Given the description of an element on the screen output the (x, y) to click on. 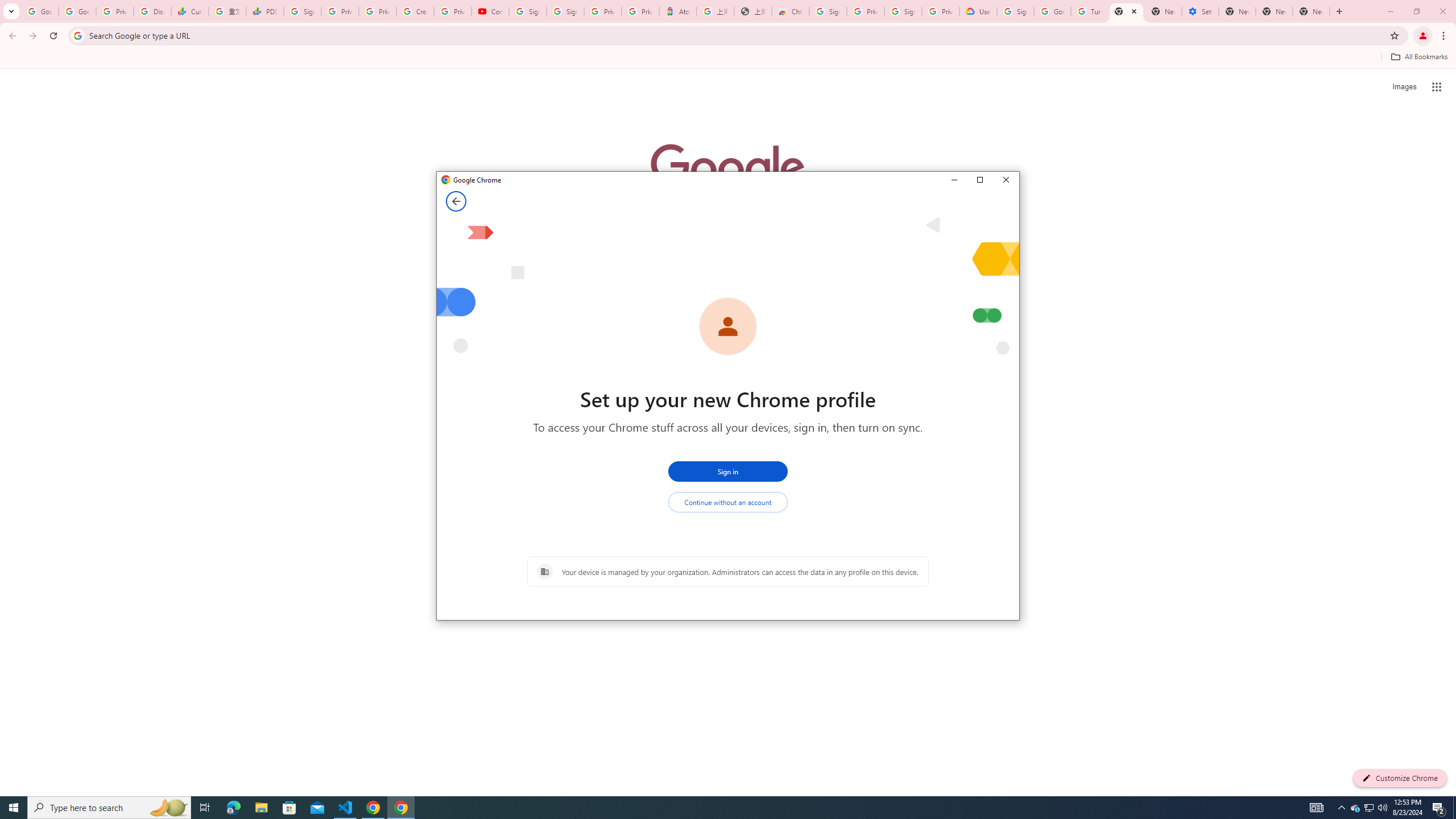
Type here to search (108, 807)
File Explorer (261, 807)
Notification Chevron (1341, 807)
Google Account Help (1052, 11)
Back from Set up your new Chrome profile page (455, 200)
Settings - System (1200, 11)
Privacy Checkup (377, 11)
